Given the description of an element on the screen output the (x, y) to click on. 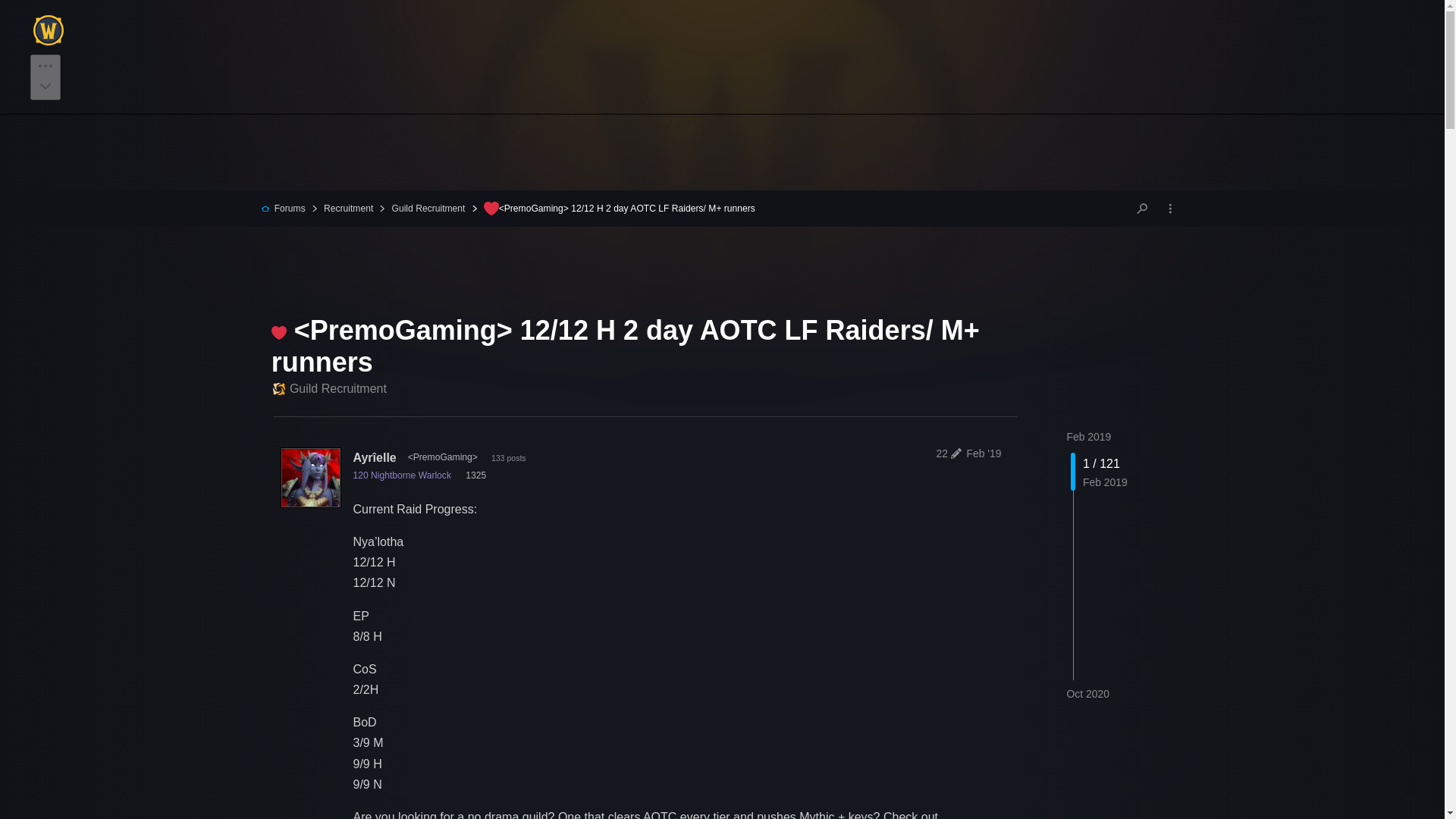
Oct 31, 2020 3:23 am (1086, 693)
post last edited on Mar 17, 2020 11:23 am (946, 453)
Recruitment (341, 208)
heart (491, 208)
Feb 2019 (1087, 436)
Feb 2019 (1087, 436)
Guild Recruitment (420, 208)
Guild Recruitment (330, 388)
22 (946, 453)
Forums (282, 208)
